Given the description of an element on the screen output the (x, y) to click on. 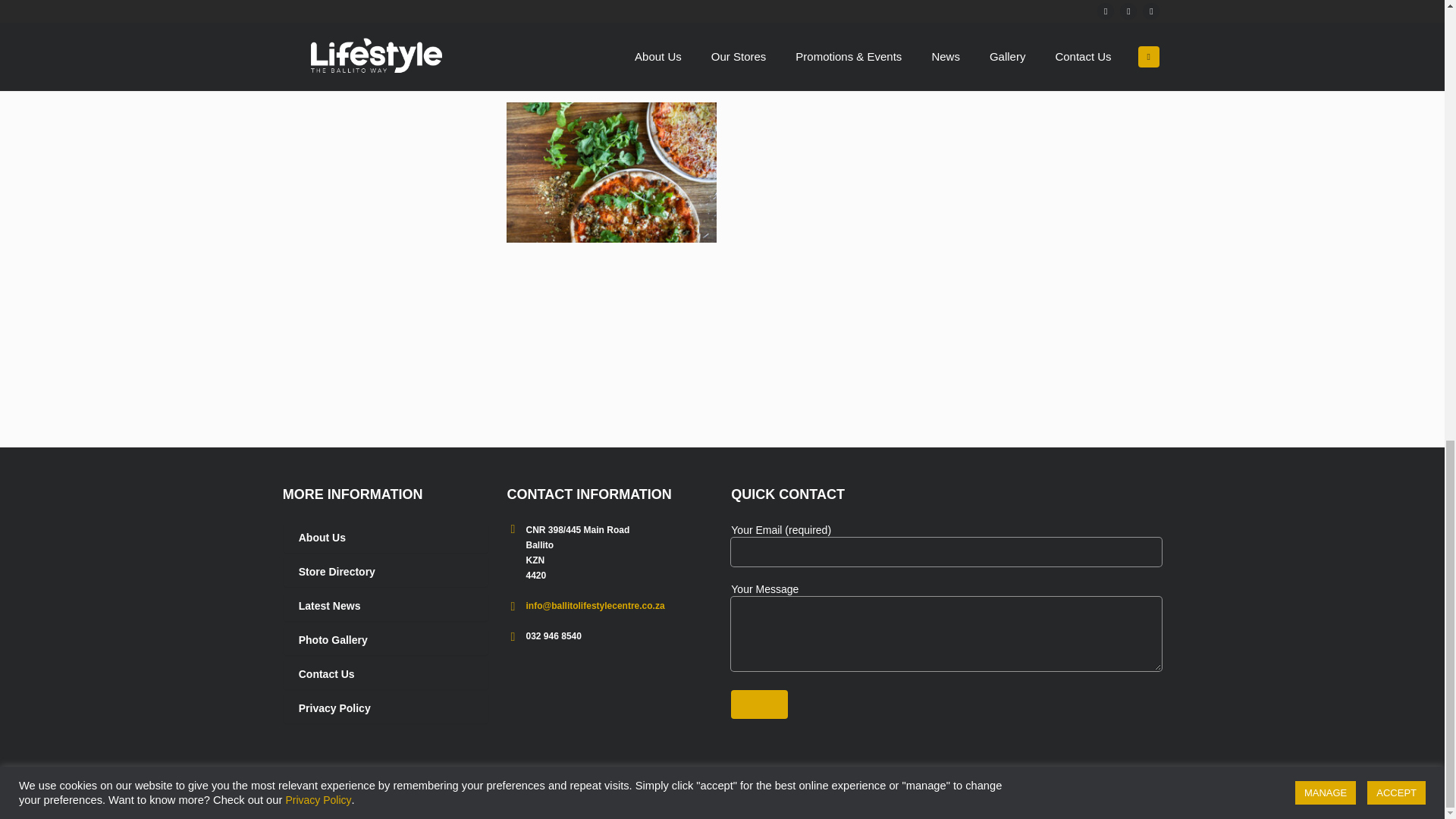
Facebook (1104, 802)
Instagram (1127, 802)
YouTube (1150, 802)
Send (758, 704)
